Given the description of an element on the screen output the (x, y) to click on. 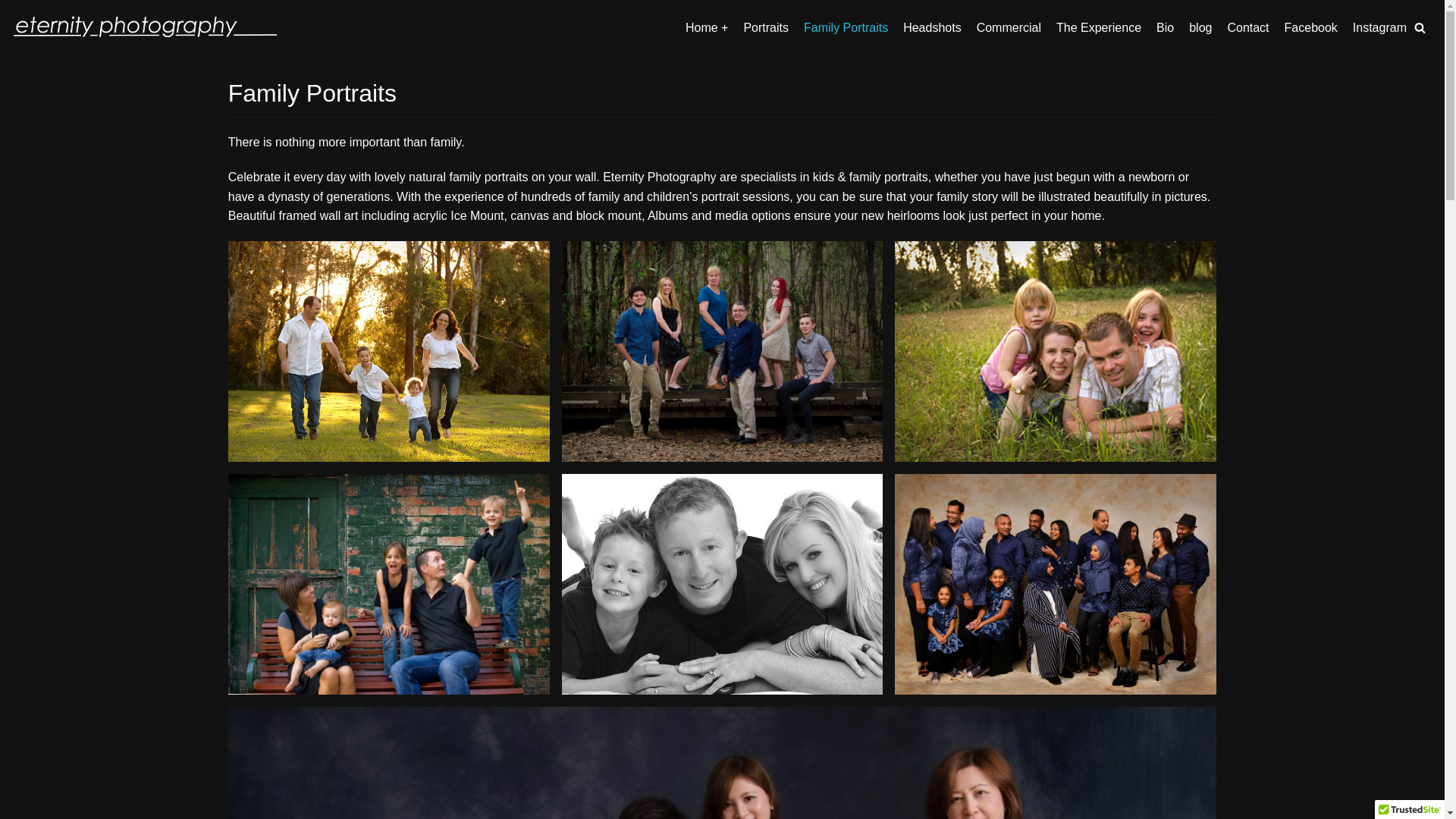
blog Element type: text (1200, 27)
The Experience Element type: text (1098, 27)
Facebook Element type: text (1310, 27)
Headshots Element type: text (932, 27)
Skip to content Element type: text (15, 7)
Instagram Element type: text (1379, 27)
Contact Element type: text (1247, 27)
eternity photography Element type: hover (143, 27)
Commercial Element type: text (1008, 27)
Family Portraits Element type: text (845, 27)
Home + Element type: text (706, 27)
Portraits Element type: text (765, 27)
Bio Element type: text (1164, 27)
